Given the description of an element on the screen output the (x, y) to click on. 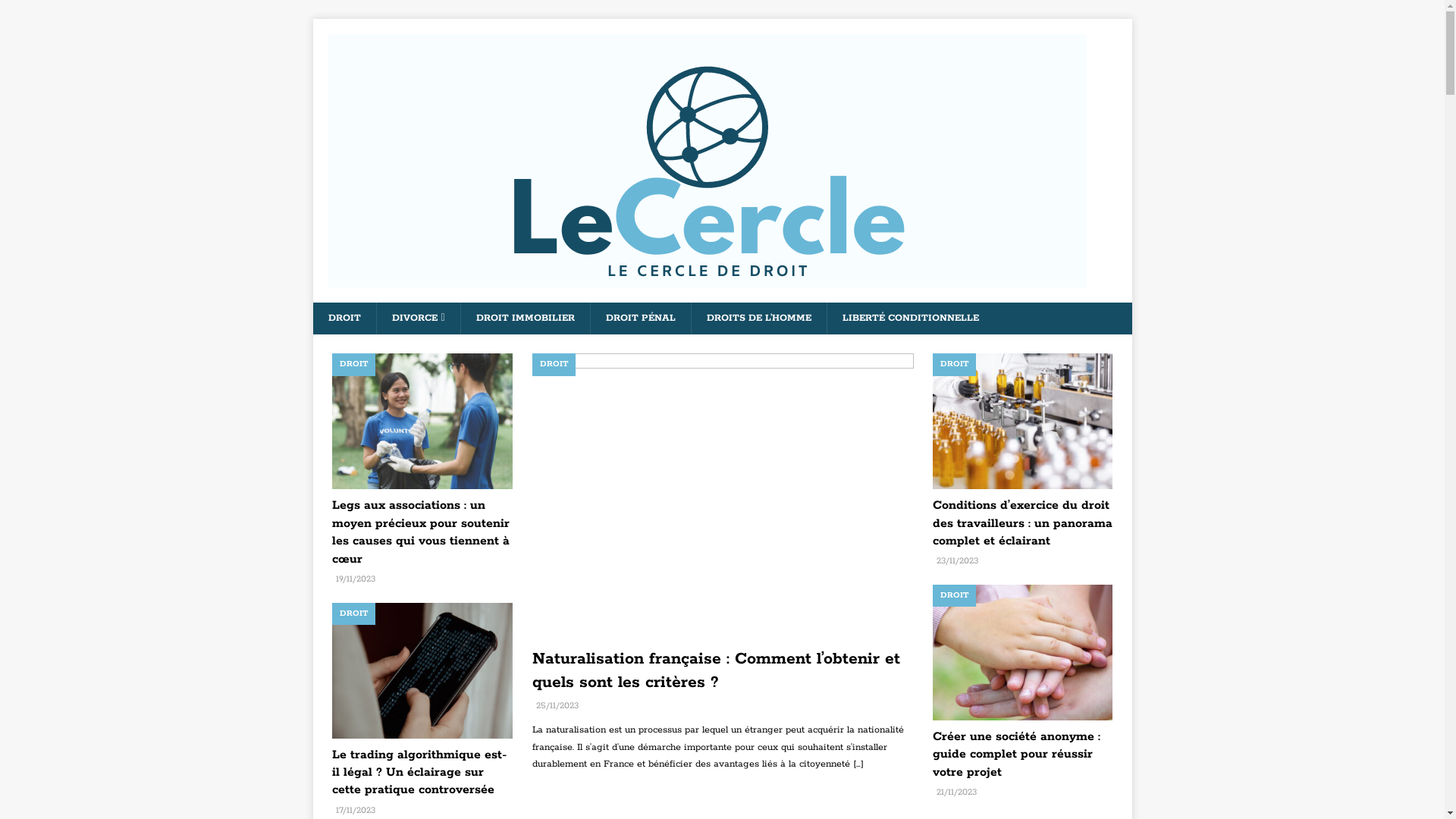
21/11/2023 Element type: text (955, 791)
19/11/2023 Element type: text (354, 578)
DROIT Element type: text (343, 318)
DROIT IMMOBILIER Element type: text (524, 318)
DIVORCE Element type: text (418, 318)
17/11/2023 Element type: text (354, 809)
25/11/2023 Element type: text (556, 705)
23/11/2023 Element type: text (956, 560)
